Given the description of an element on the screen output the (x, y) to click on. 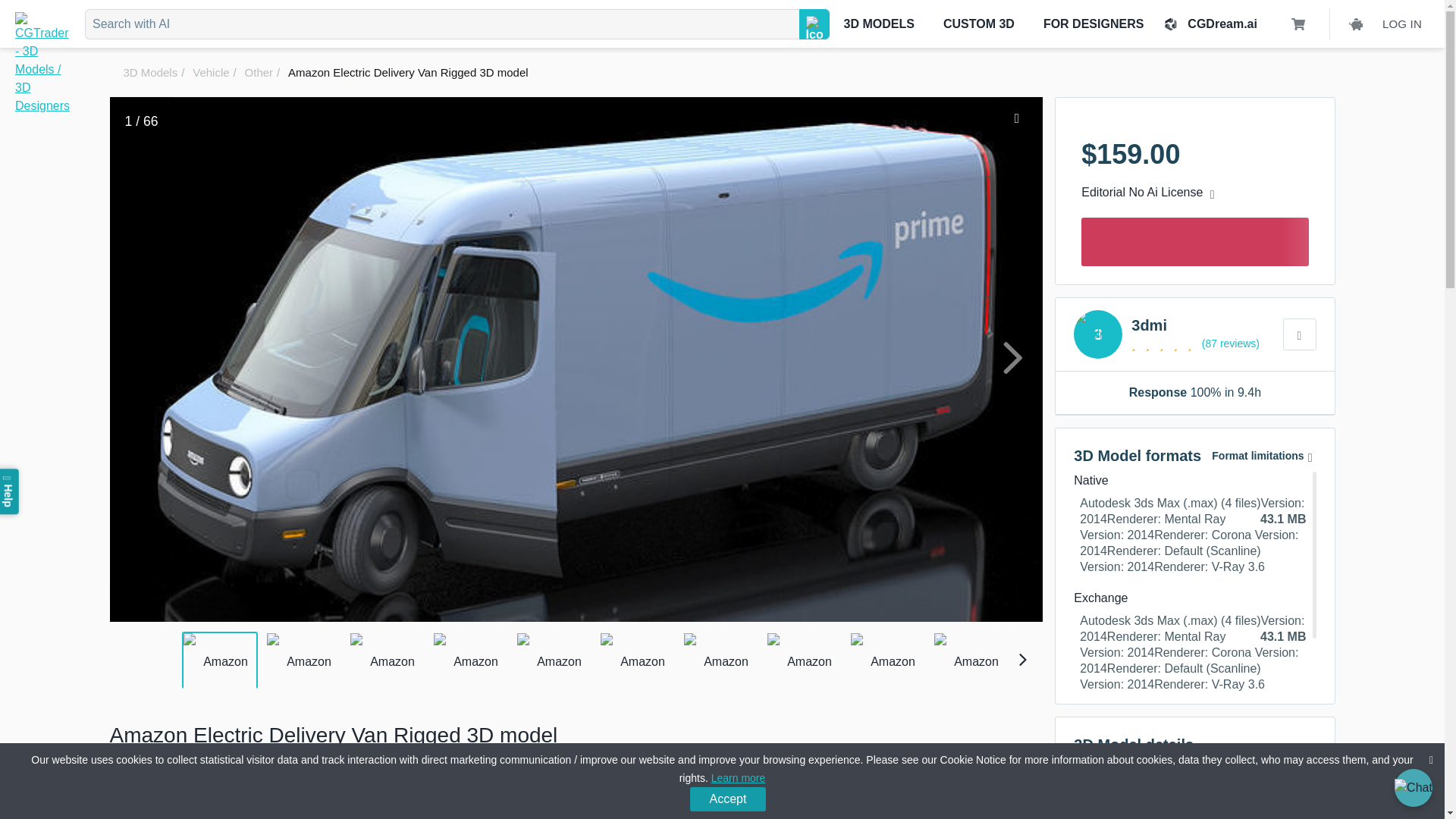
3D MODELS (878, 24)
3D Models (149, 72)
3dmi (1201, 343)
CUSTOM 3D (978, 24)
Accept (727, 799)
Learn more (738, 777)
Other (258, 72)
3dmi (1201, 325)
3dmi (1098, 334)
